Given the description of an element on the screen output the (x, y) to click on. 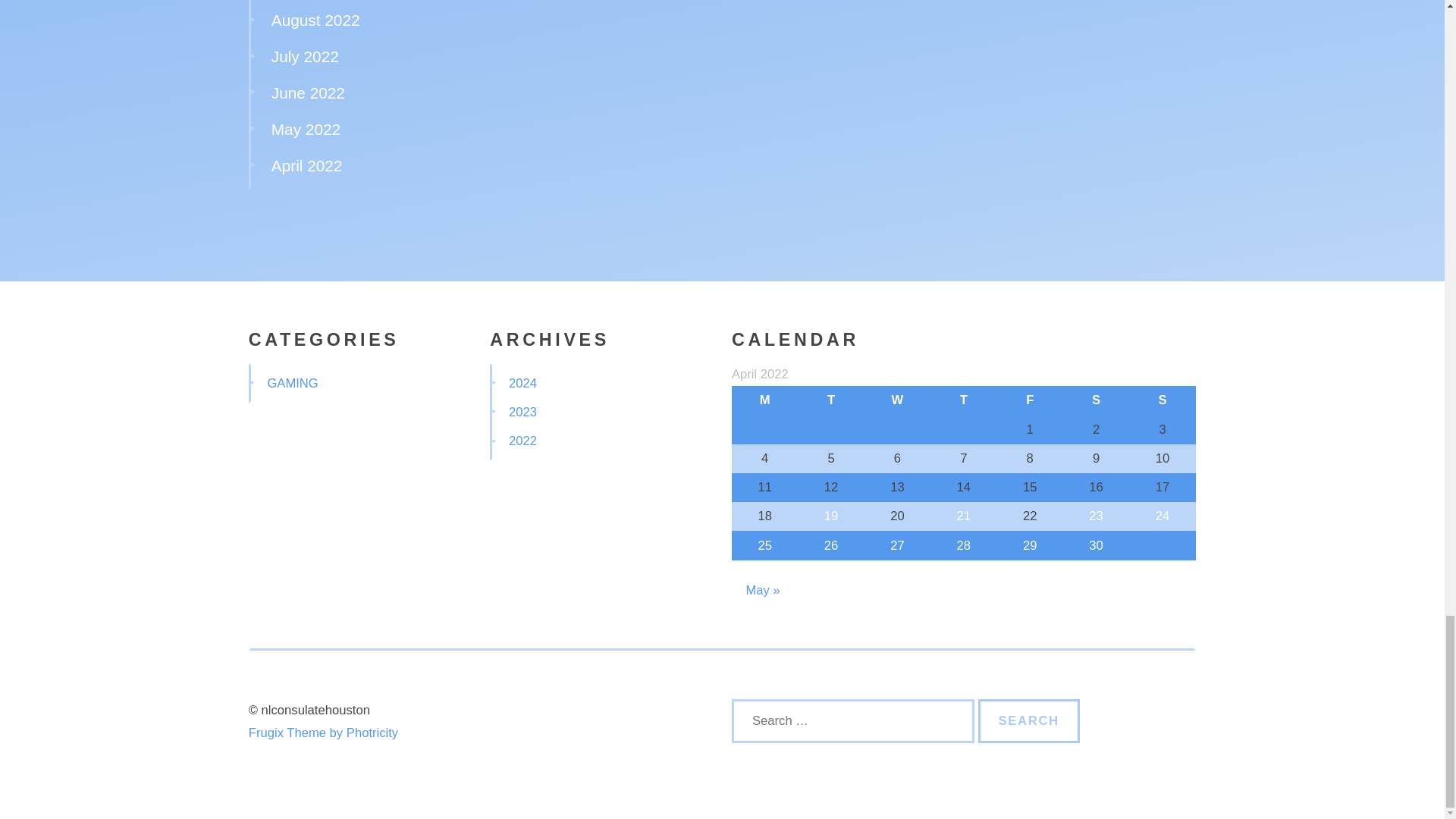
Friday (1029, 399)
Search (1029, 720)
Wednesday (897, 399)
Monday (764, 399)
Sunday (1162, 399)
July 2022 (304, 56)
Tuesday (830, 399)
Search (1029, 720)
Thursday (962, 399)
August 2022 (314, 19)
